Given the description of an element on the screen output the (x, y) to click on. 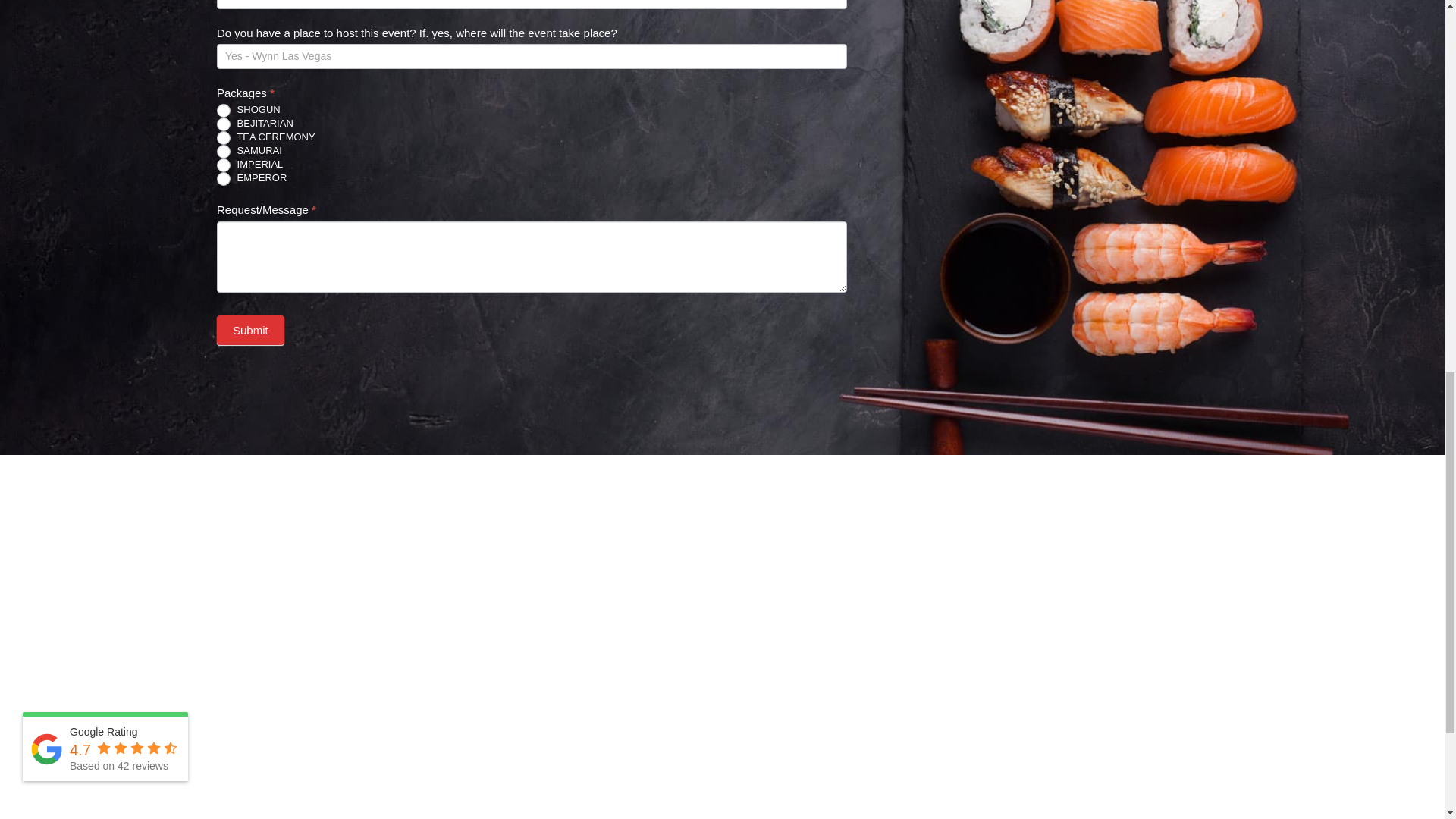
IMPERIAL (223, 164)
TEA CEREMONY (223, 137)
SAMURAI (223, 151)
Submit (249, 329)
EMPEROR (223, 178)
SHOGUN (223, 110)
BEJITARIAN (223, 124)
